Given the description of an element on the screen output the (x, y) to click on. 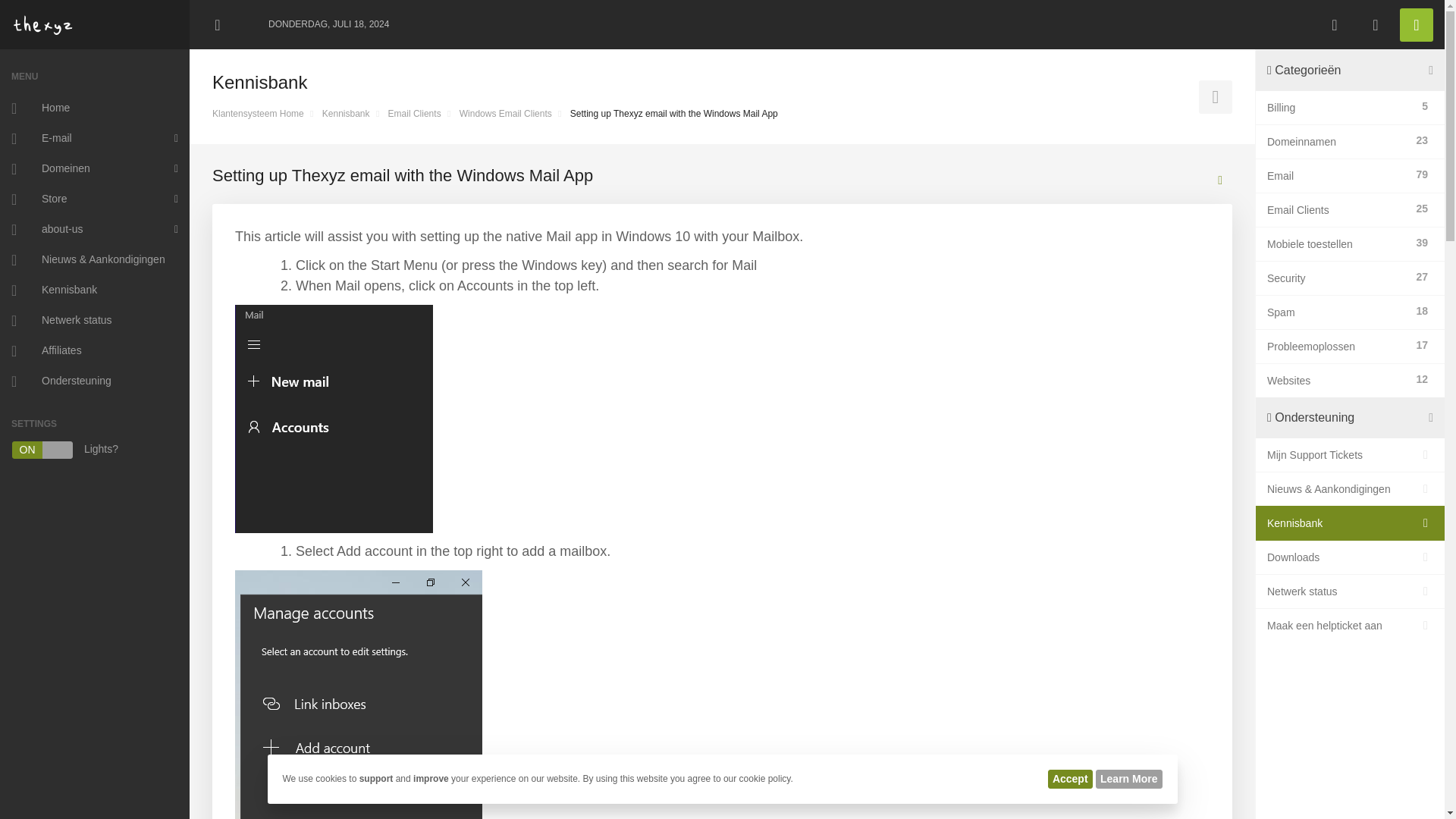
Billing (1341, 107)
Account (1415, 23)
Email (1338, 176)
Minimize Menu (217, 23)
Spam (1338, 312)
Store (94, 199)
Websites (1338, 380)
Mobiele toestellen (1338, 244)
Nederlands (1334, 23)
Email Clients (1338, 209)
Domeinnamen (1338, 141)
E-mail (94, 138)
Winkelwagen bekijken (1374, 23)
Domeinen (94, 168)
Security (1338, 278)
